Given the description of an element on the screen output the (x, y) to click on. 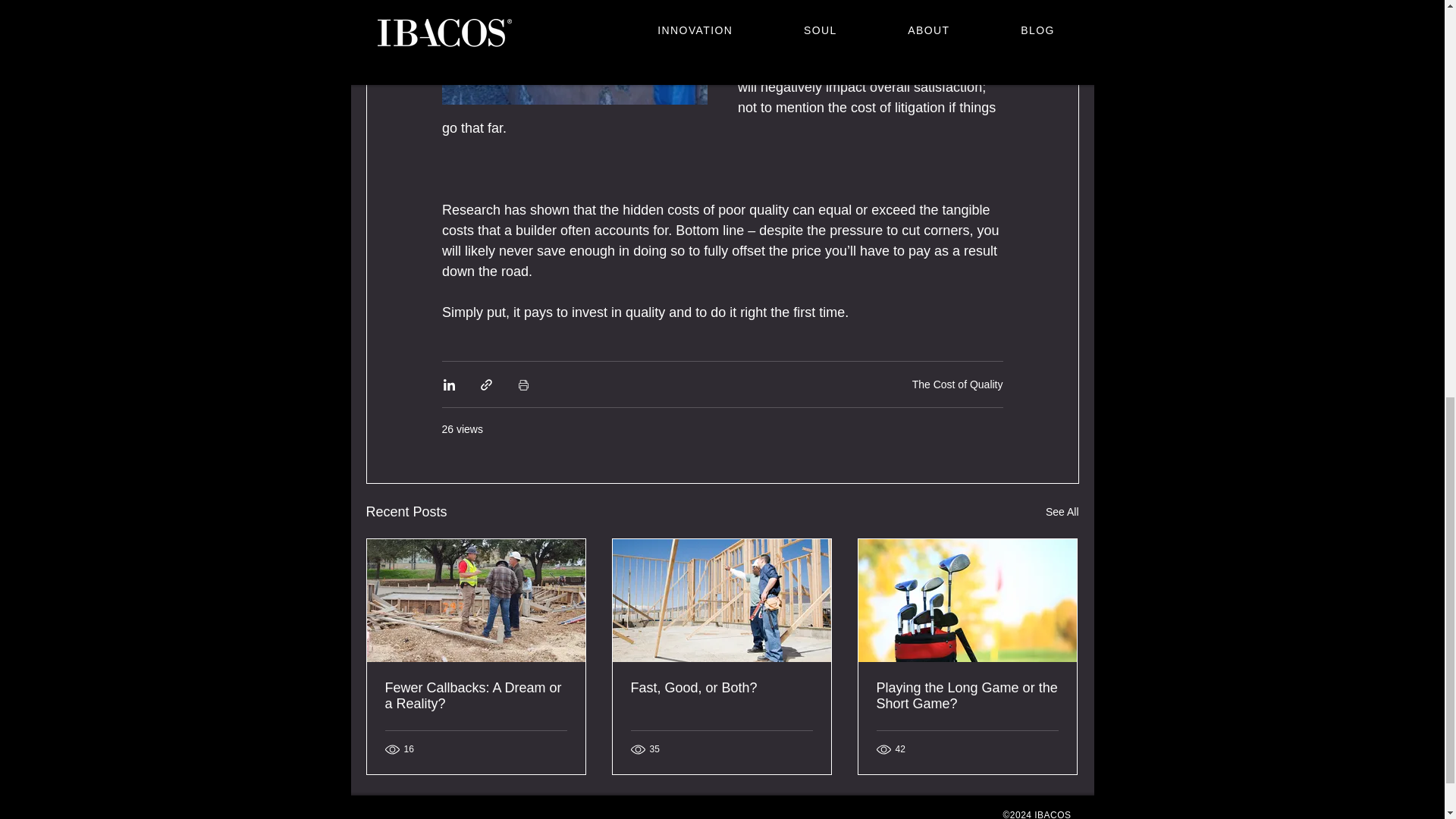
Fewer Callbacks: A Dream or a Reality? (476, 695)
The Cost of Quality (957, 383)
See All (1061, 512)
Playing the Long Game or the Short Game? (967, 695)
Fast, Good, or Both? (721, 688)
